Given the description of an element on the screen output the (x, y) to click on. 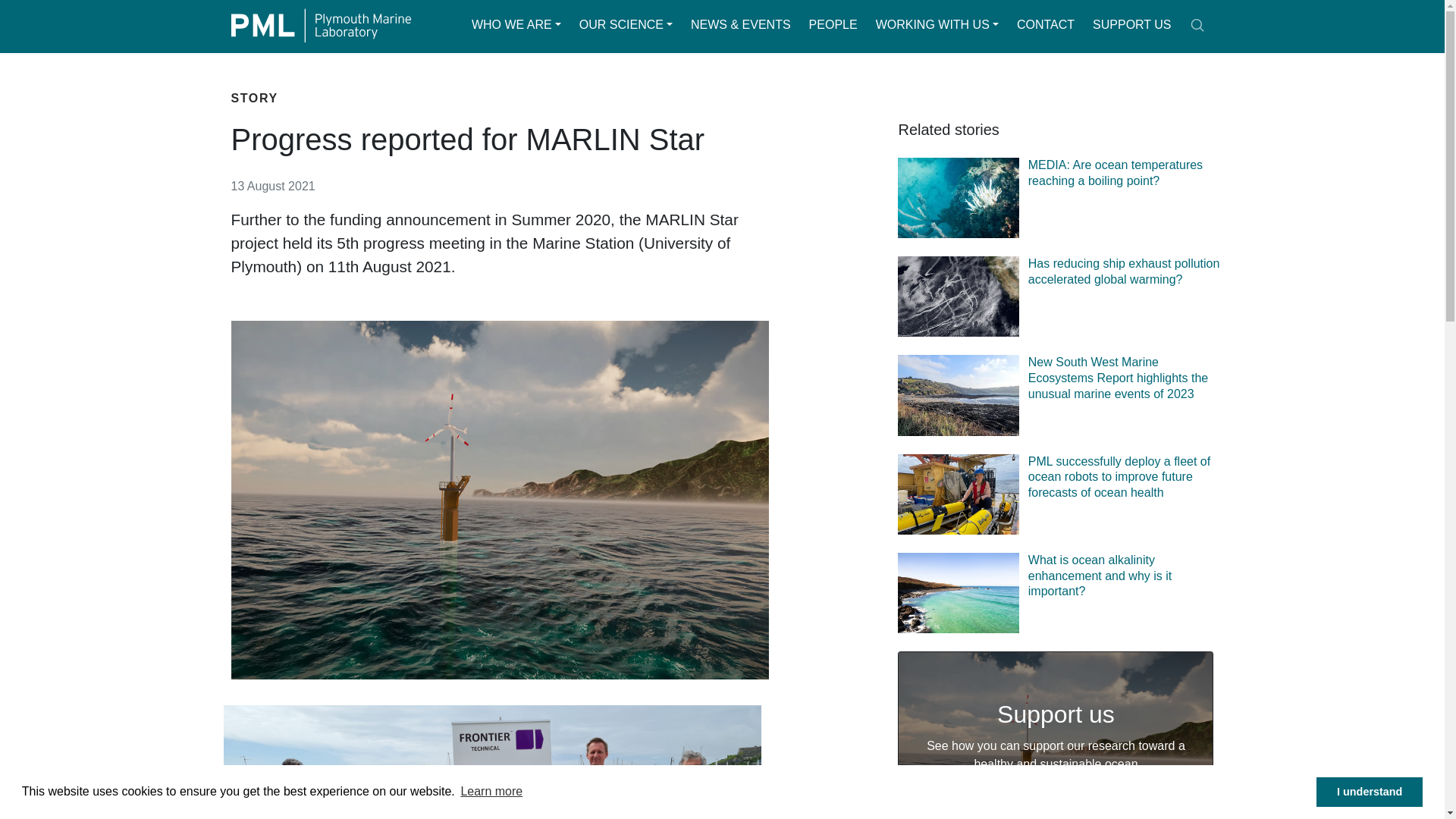
OUR SCIENCE (625, 24)
Learn more (491, 791)
WORKING WITH US (936, 24)
WHO WE ARE (516, 24)
I understand (1369, 791)
PEOPLE (833, 24)
